Given the description of an element on the screen output the (x, y) to click on. 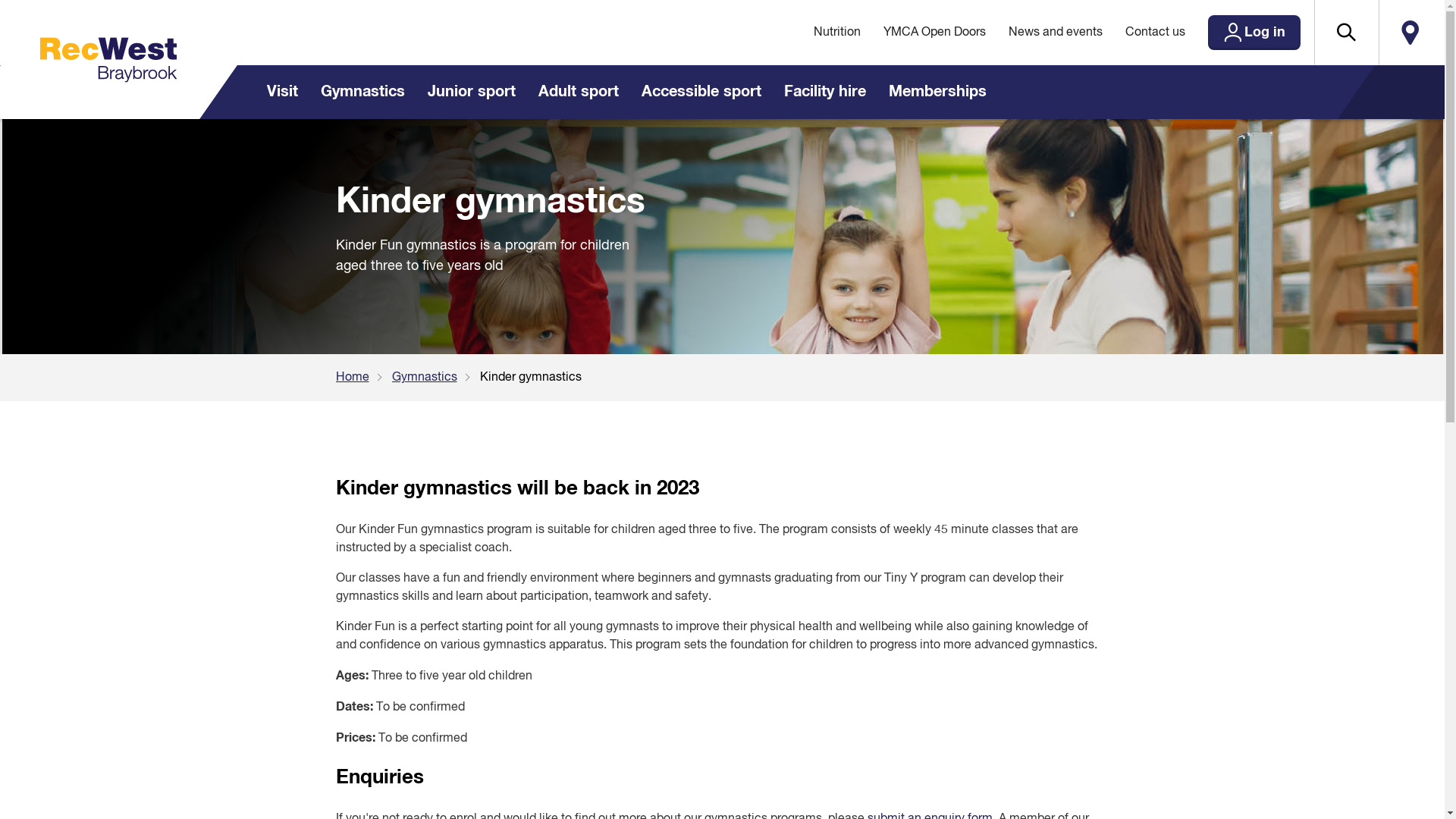
Gymnastics Element type: text (435, 377)
News and events Element type: text (1054, 32)
Junior sport Element type: text (470, 92)
Home Element type: text (363, 377)
Visit Element type: text (281, 92)
Memberships Element type: text (936, 92)
YMCA Open Doors Element type: text (934, 32)
Contact us Element type: text (1154, 32)
Facility hire Element type: text (823, 92)
Nutrition Element type: text (837, 32)
Gymnastics Element type: text (362, 92)
Log in Element type: text (1253, 32)
Accessible sport Element type: text (700, 92)
Adult sport Element type: text (577, 92)
Locate Element type: text (1410, 32)
